Given the description of an element on the screen output the (x, y) to click on. 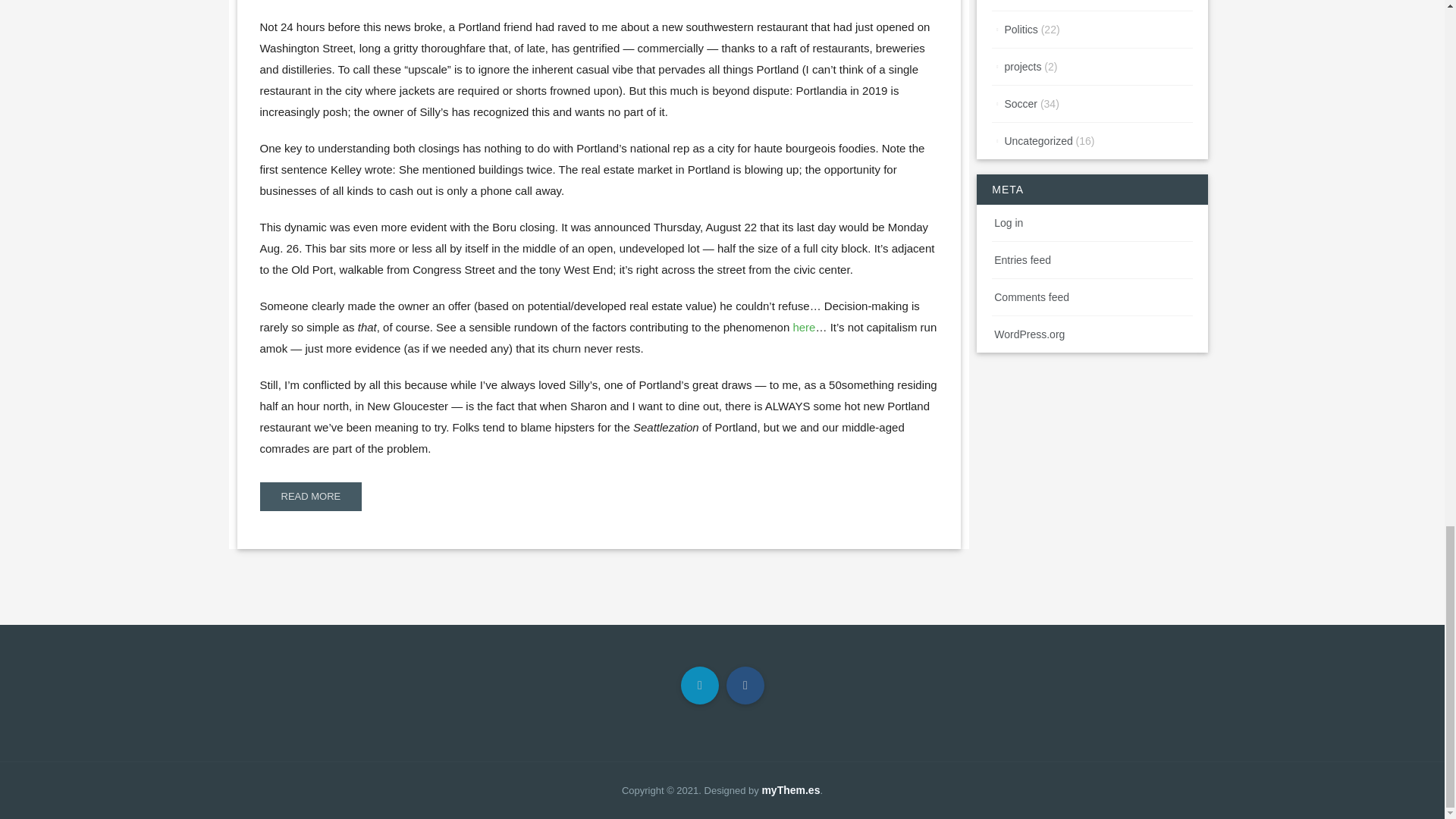
myThem.es (790, 789)
here (803, 327)
Politics (1020, 29)
READ MORE (310, 496)
